Given the description of an element on the screen output the (x, y) to click on. 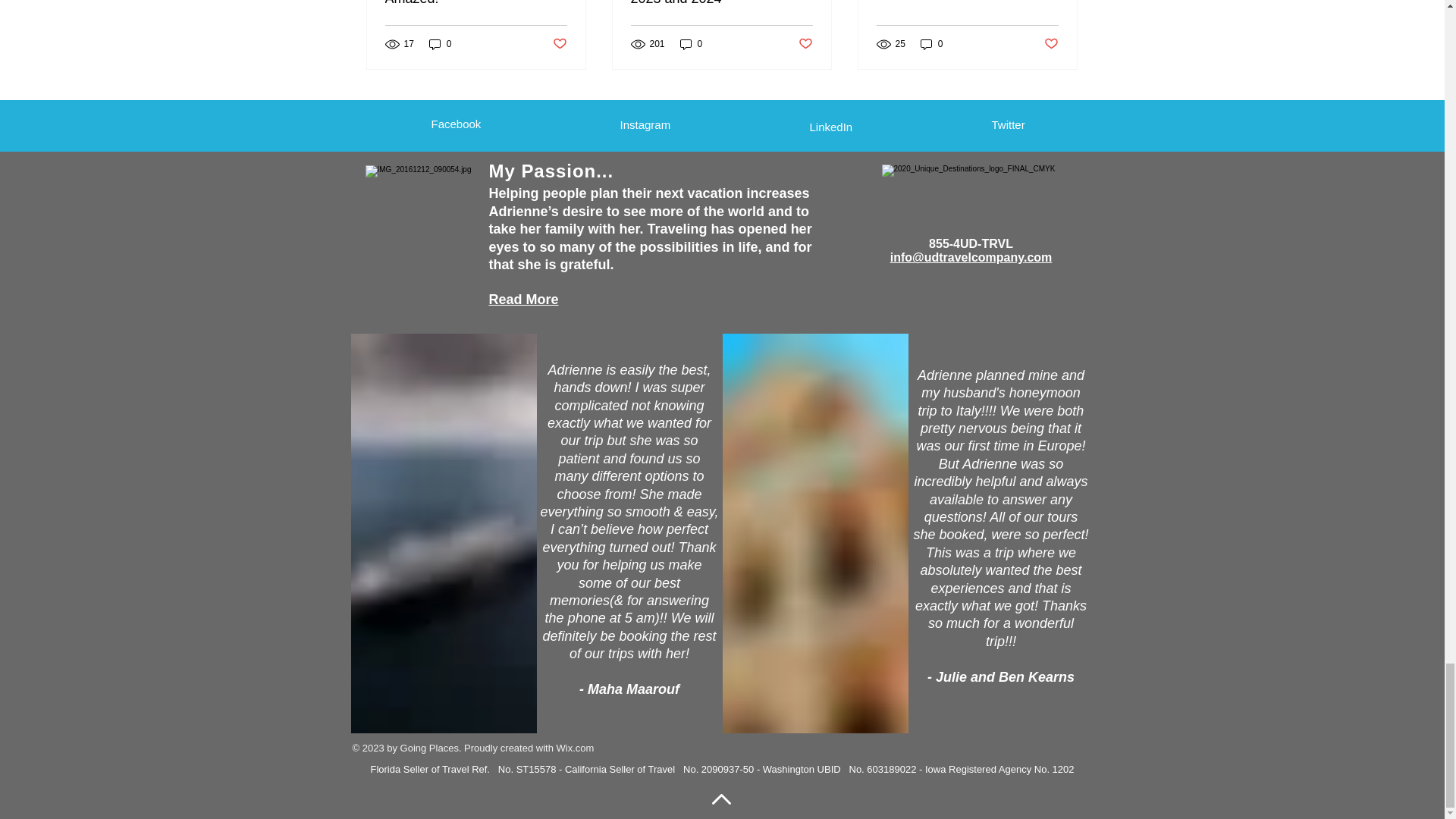
Travel to Dubai and be Amazed! (476, 3)
Post not marked as liked (558, 44)
0 (440, 43)
Post not marked as liked (804, 44)
Fun Caribbean festivals for 2023 and 2024 (721, 3)
0 (691, 43)
